Given the description of an element on the screen output the (x, y) to click on. 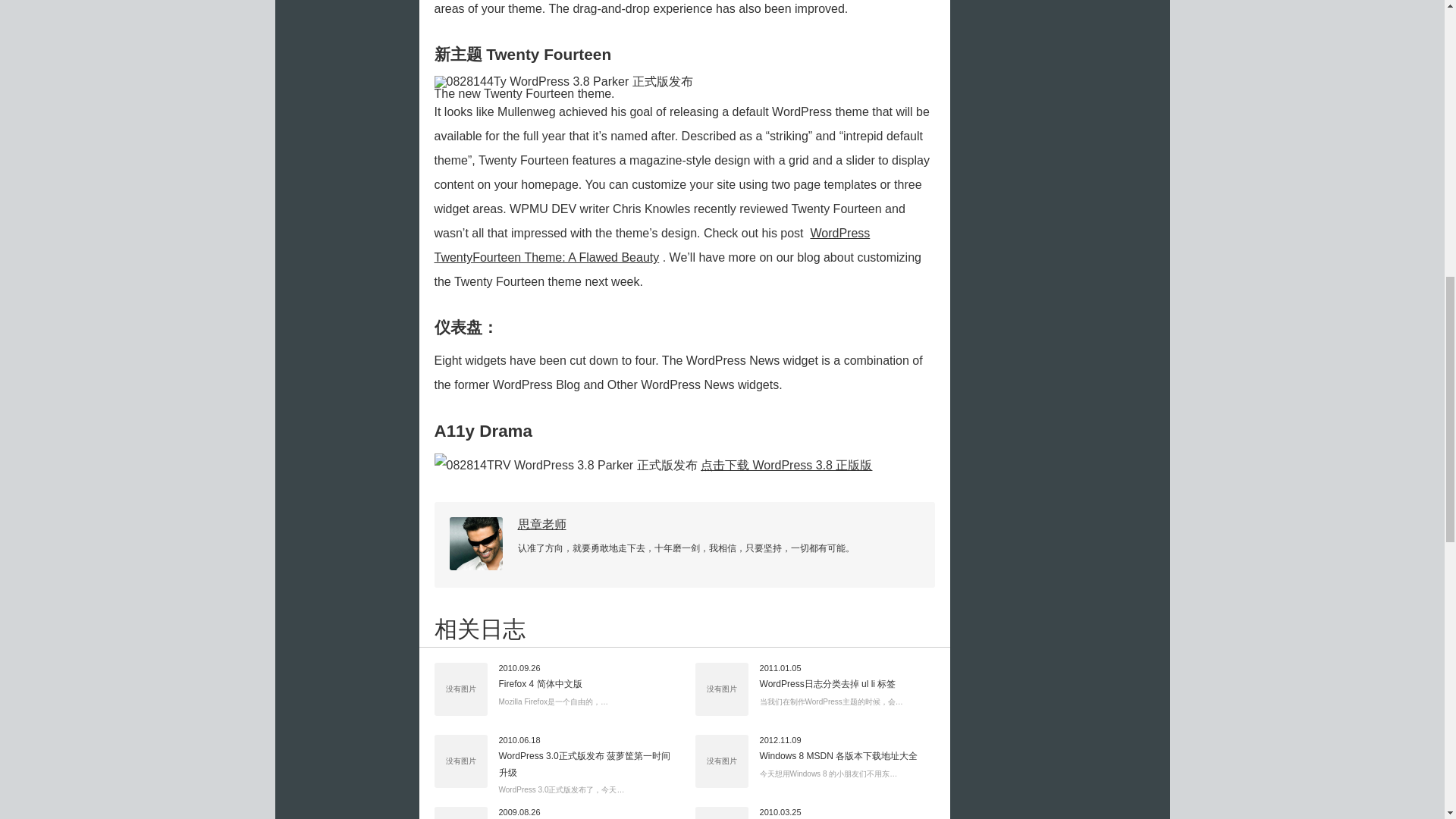
WordPress TwentyFourteen Theme: A Flawed Beauty (651, 244)
